Given the description of an element on the screen output the (x, y) to click on. 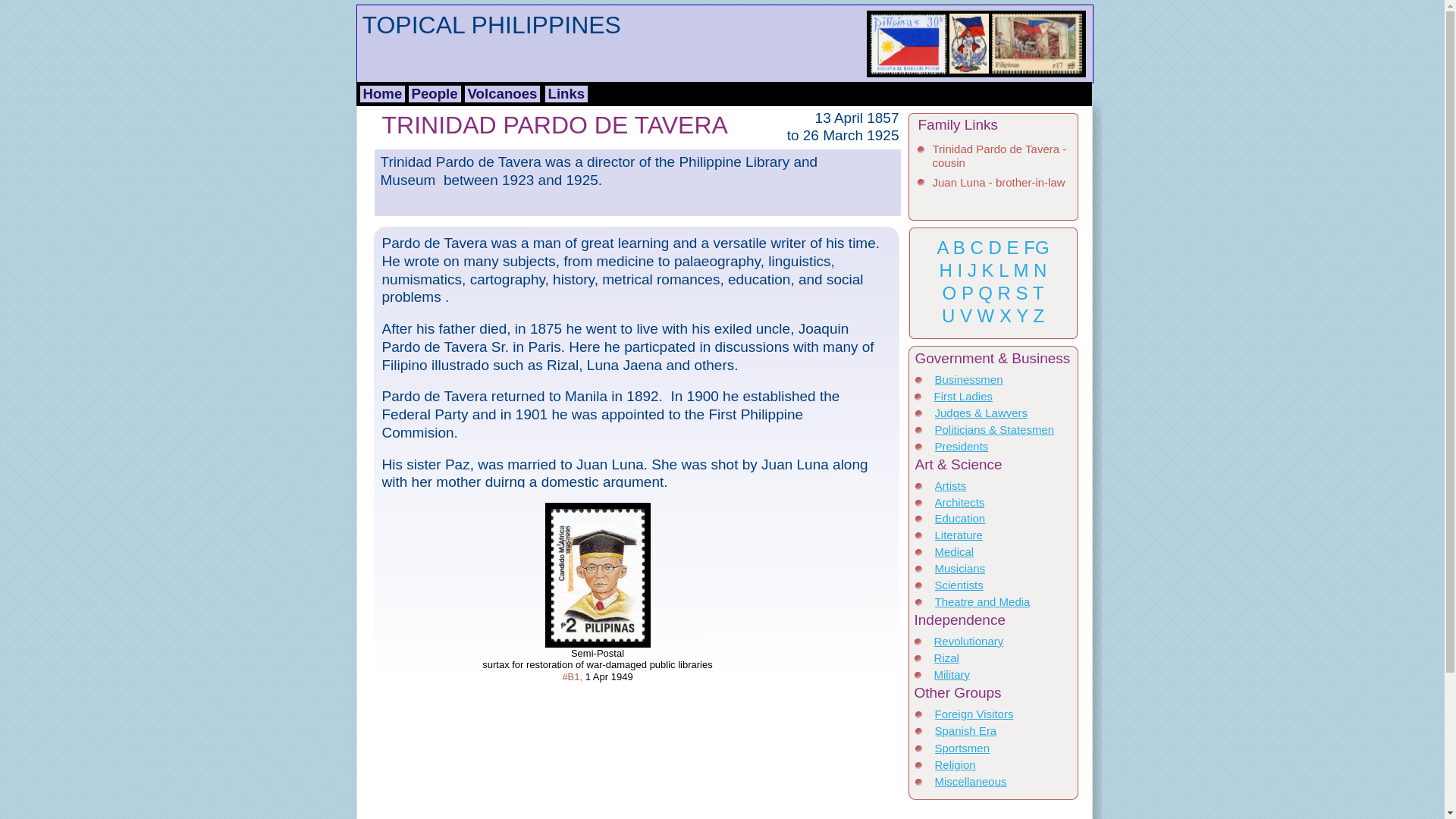
Rizal (946, 657)
Military (952, 674)
Artists (950, 485)
People (433, 93)
Presidents (961, 445)
Literature (957, 534)
Foreign Visitors (973, 713)
Revolutionary Heroes (969, 647)
Education (959, 517)
Links (566, 93)
